Given the description of an element on the screen output the (x, y) to click on. 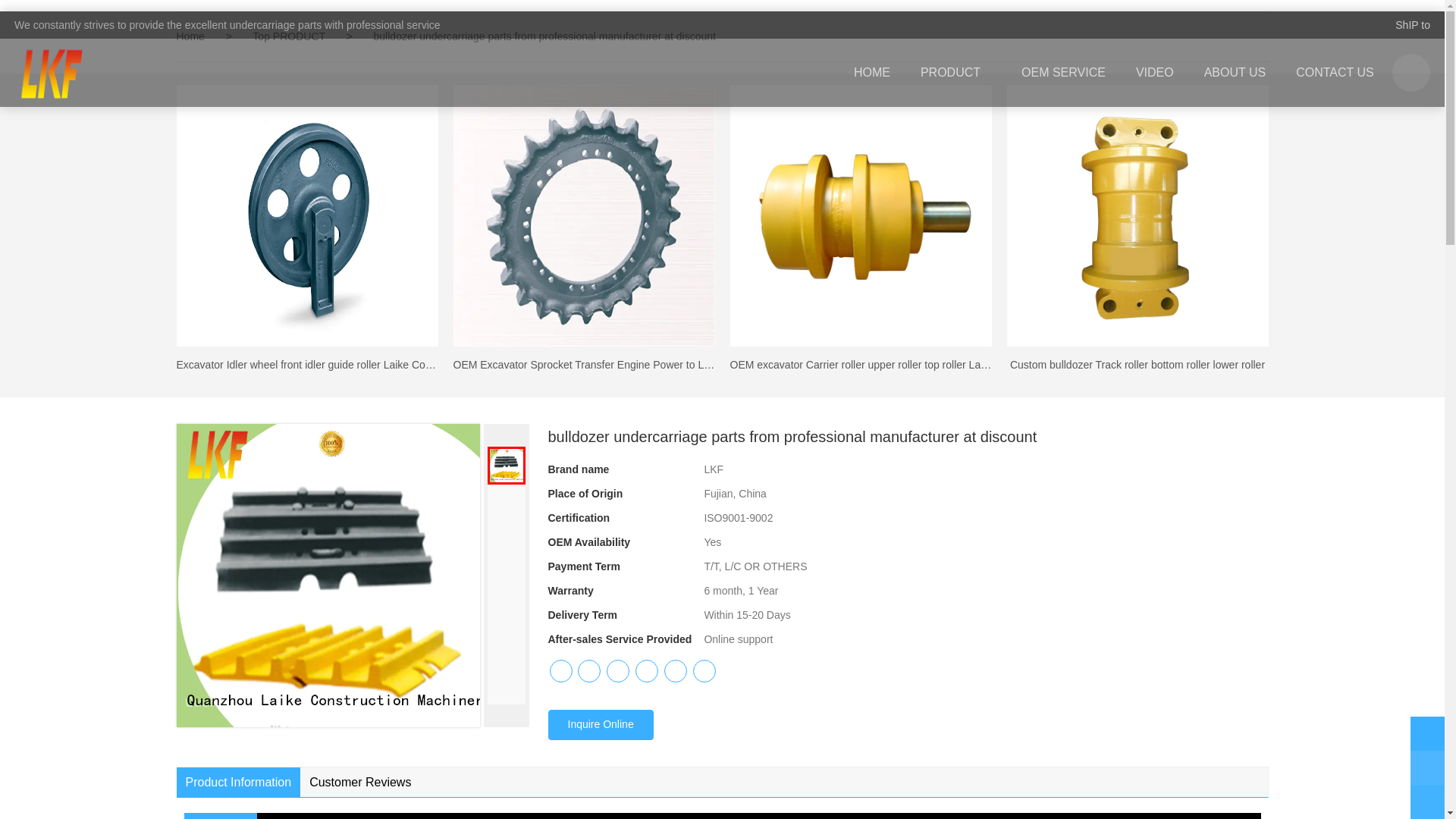
HOME (871, 72)
OEM SERVICE (1063, 72)
Product Information (237, 782)
Top PRODUCT (289, 36)
Customer Reviews (359, 782)
VIDEO (1155, 72)
CONTACT US (1335, 72)
Inquire Online (599, 725)
Home (189, 36)
ABOUT US (1235, 72)
PRODUCT (955, 72)
